Given the description of an element on the screen output the (x, y) to click on. 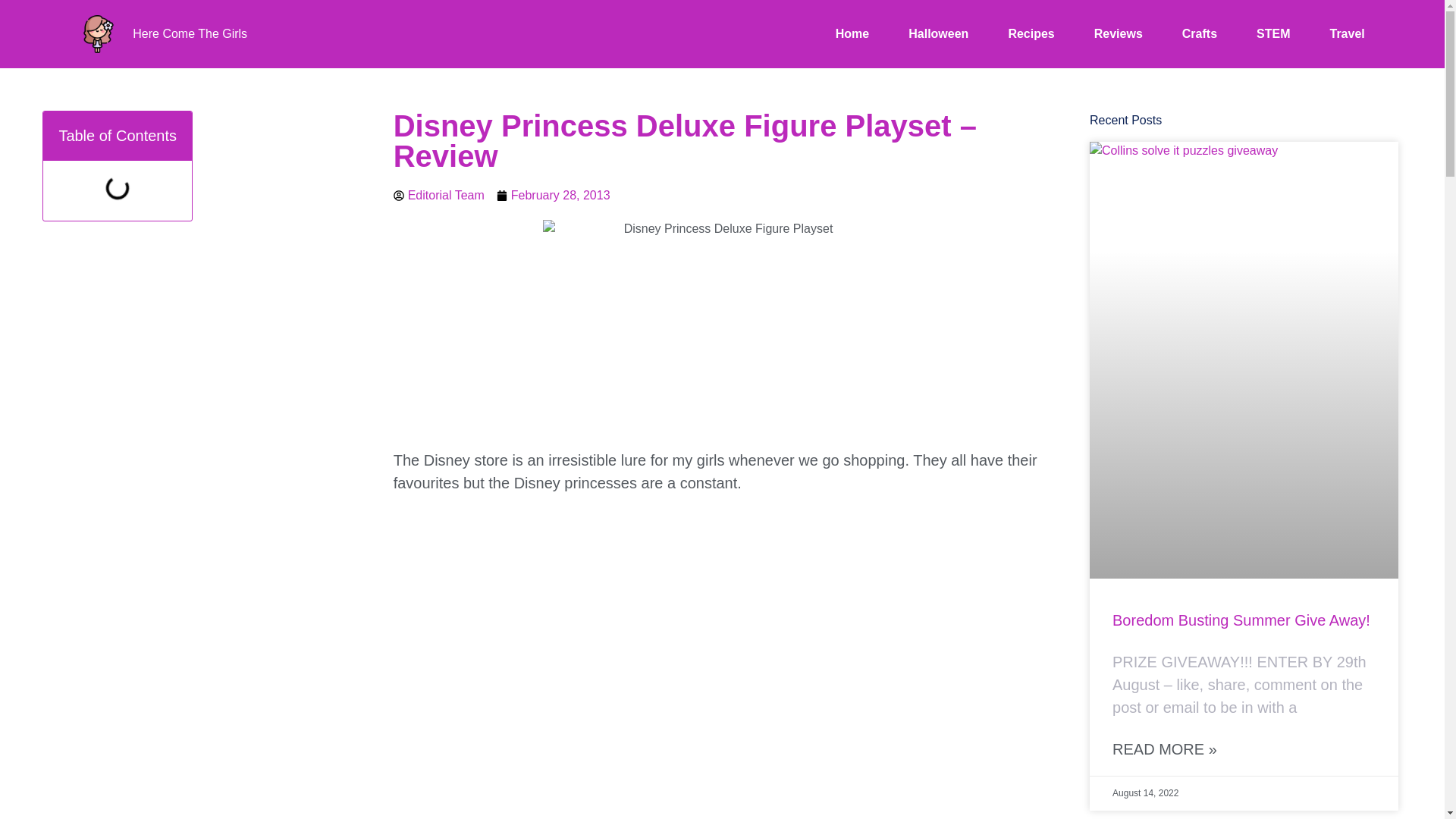
Boredom Busting Summer Give Away! (1241, 619)
STEM (1273, 34)
Recipes (1030, 34)
Halloween (938, 34)
February 28, 2013 (553, 195)
Home (852, 34)
Editorial Team (438, 195)
Reviews (1118, 34)
Crafts (1199, 34)
Travel (1346, 34)
Here Come The Girls (189, 33)
